Given the description of an element on the screen output the (x, y) to click on. 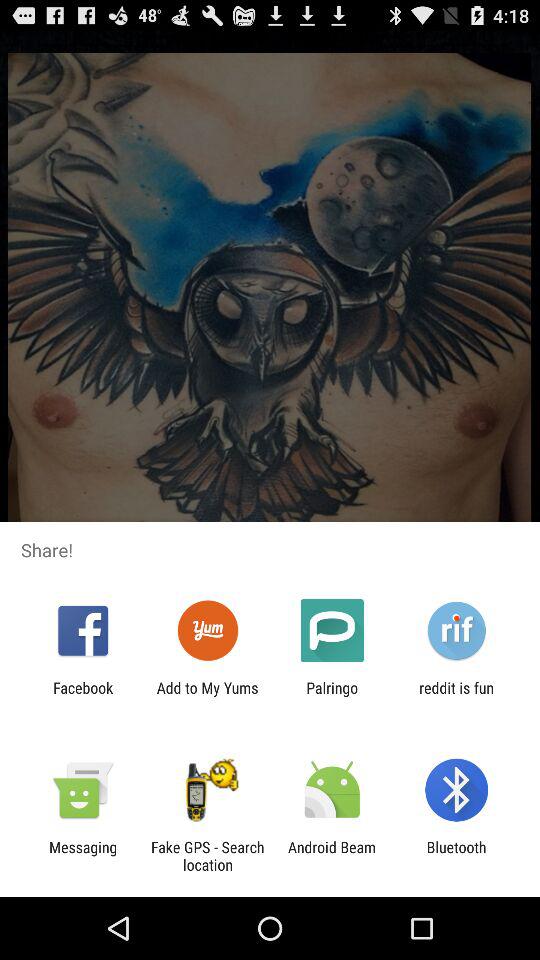
select the item next to the palringo icon (207, 696)
